Given the description of an element on the screen output the (x, y) to click on. 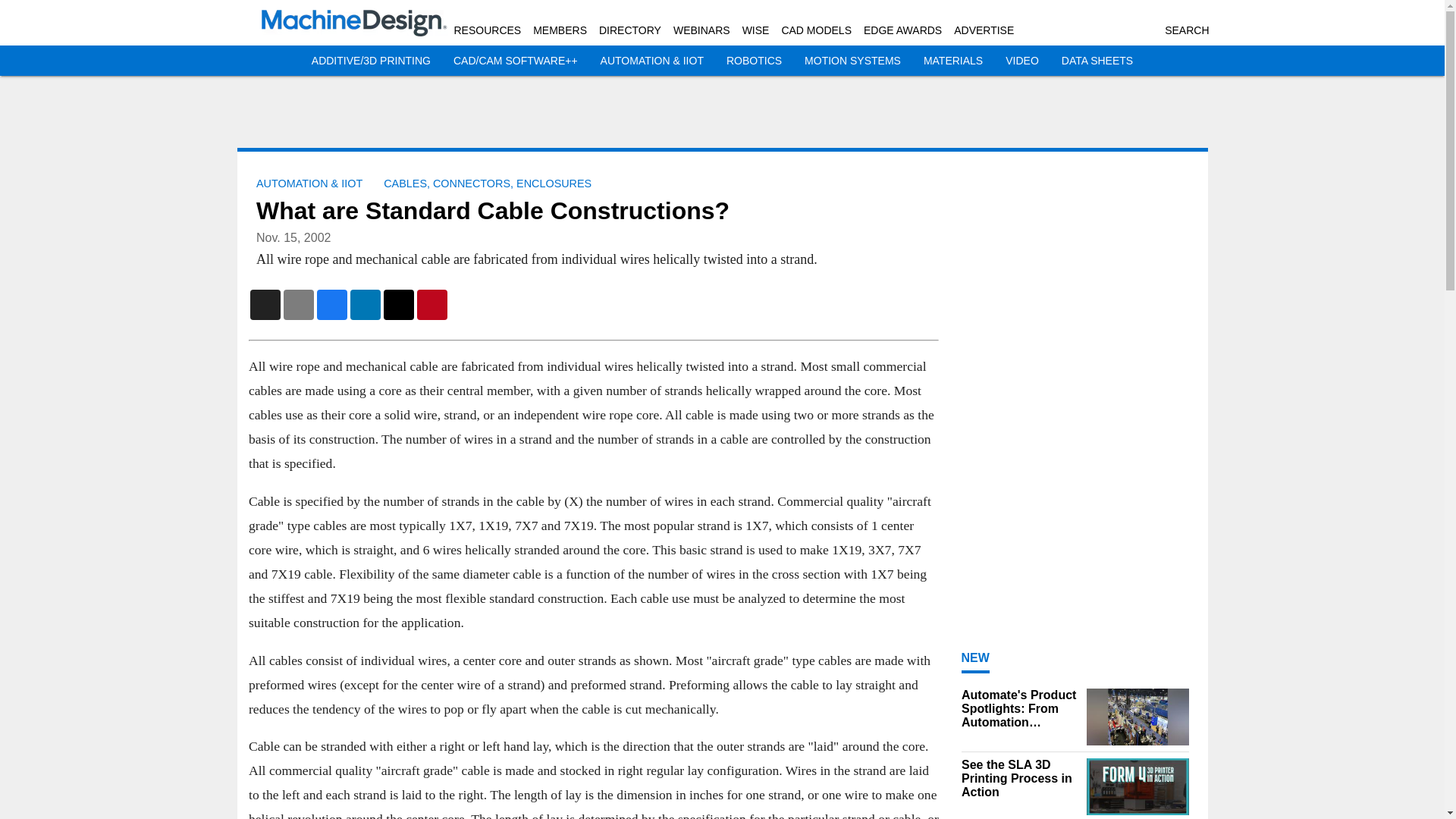
DIRECTORY (629, 30)
CAD MODELS (815, 30)
MEMBERS (559, 30)
DATA SHEETS (1096, 60)
MOTION SYSTEMS (853, 60)
RESOURCES (486, 30)
MATERIALS (952, 60)
WEBINARS (701, 30)
VIDEO (1022, 60)
SEARCH (1186, 30)
WISE (756, 30)
ROBOTICS (753, 60)
ADVERTISE (983, 30)
EDGE AWARDS (902, 30)
CABLES, CONNECTORS, ENCLOSURES (487, 183)
